Given the description of an element on the screen output the (x, y) to click on. 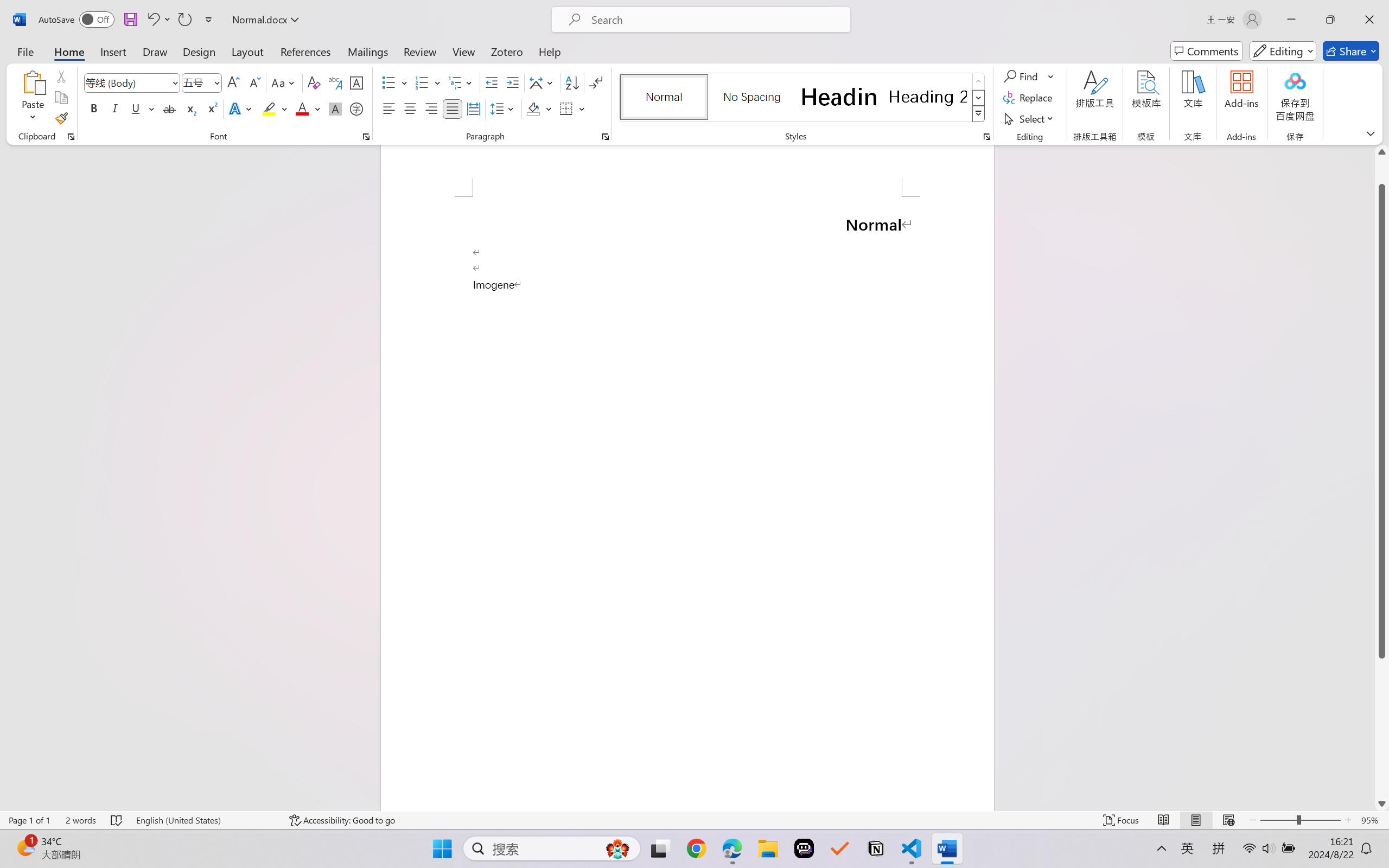
Page 1 content (687, 503)
Show/Hide Editing Marks (595, 82)
Grow Font (233, 82)
Shading (539, 108)
Page down (1382, 727)
Font Color (308, 108)
Text Highlight Color Yellow (269, 108)
